Given the description of an element on the screen output the (x, y) to click on. 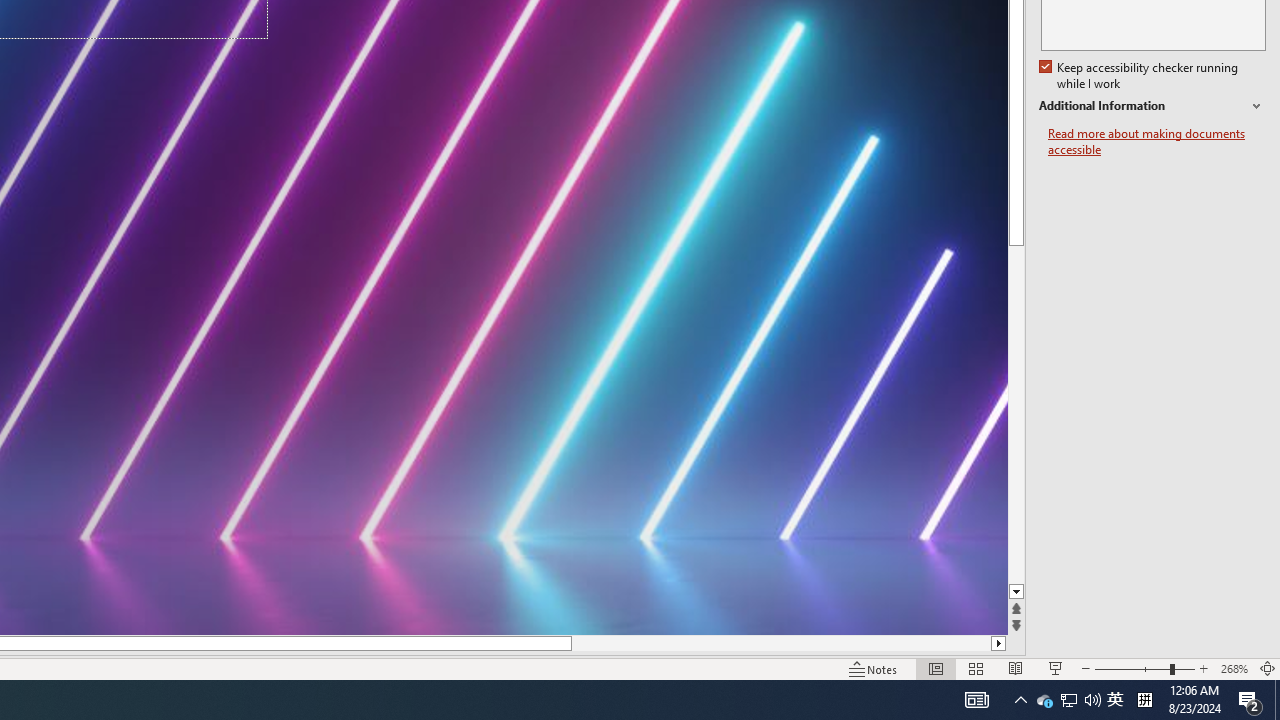
Zoom 268% (1234, 668)
Additional Information (1152, 106)
Notes  (874, 668)
Reading View (1015, 668)
Keep accessibility checker running while I work (1140, 76)
Read more about making documents accessible (1156, 142)
Zoom to Fit  (1267, 668)
Zoom Out (1131, 668)
Zoom (1144, 668)
Zoom In (1204, 668)
Slide Sorter (975, 668)
Normal (936, 668)
